Given the description of an element on the screen output the (x, y) to click on. 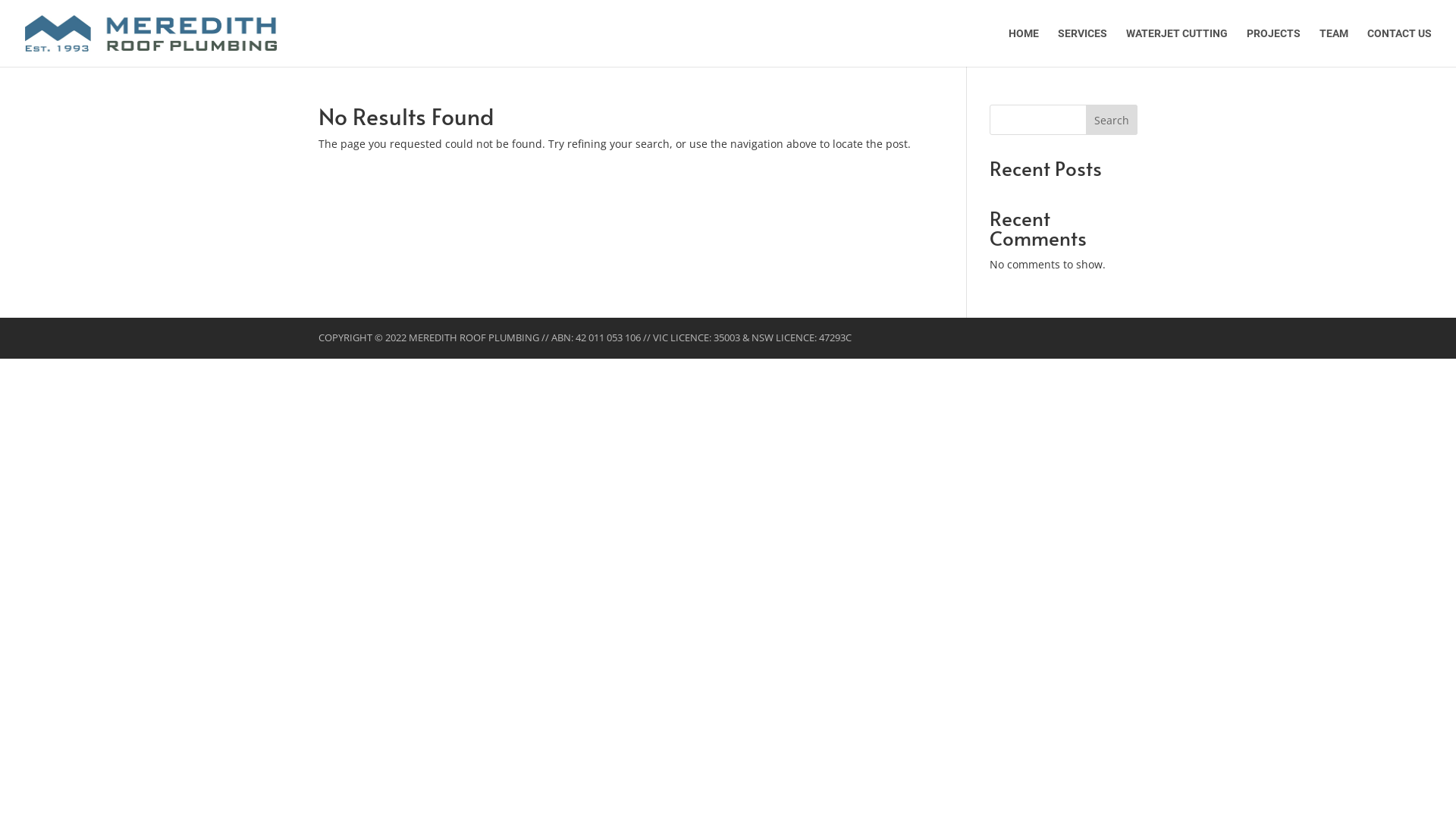
TEAM Element type: text (1333, 47)
PROJECTS Element type: text (1273, 47)
HOME Element type: text (1023, 47)
WATERJET CUTTING Element type: text (1176, 47)
Search Element type: text (1111, 119)
CONTACT US Element type: text (1399, 47)
SERVICES Element type: text (1082, 47)
